Given the description of an element on the screen output the (x, y) to click on. 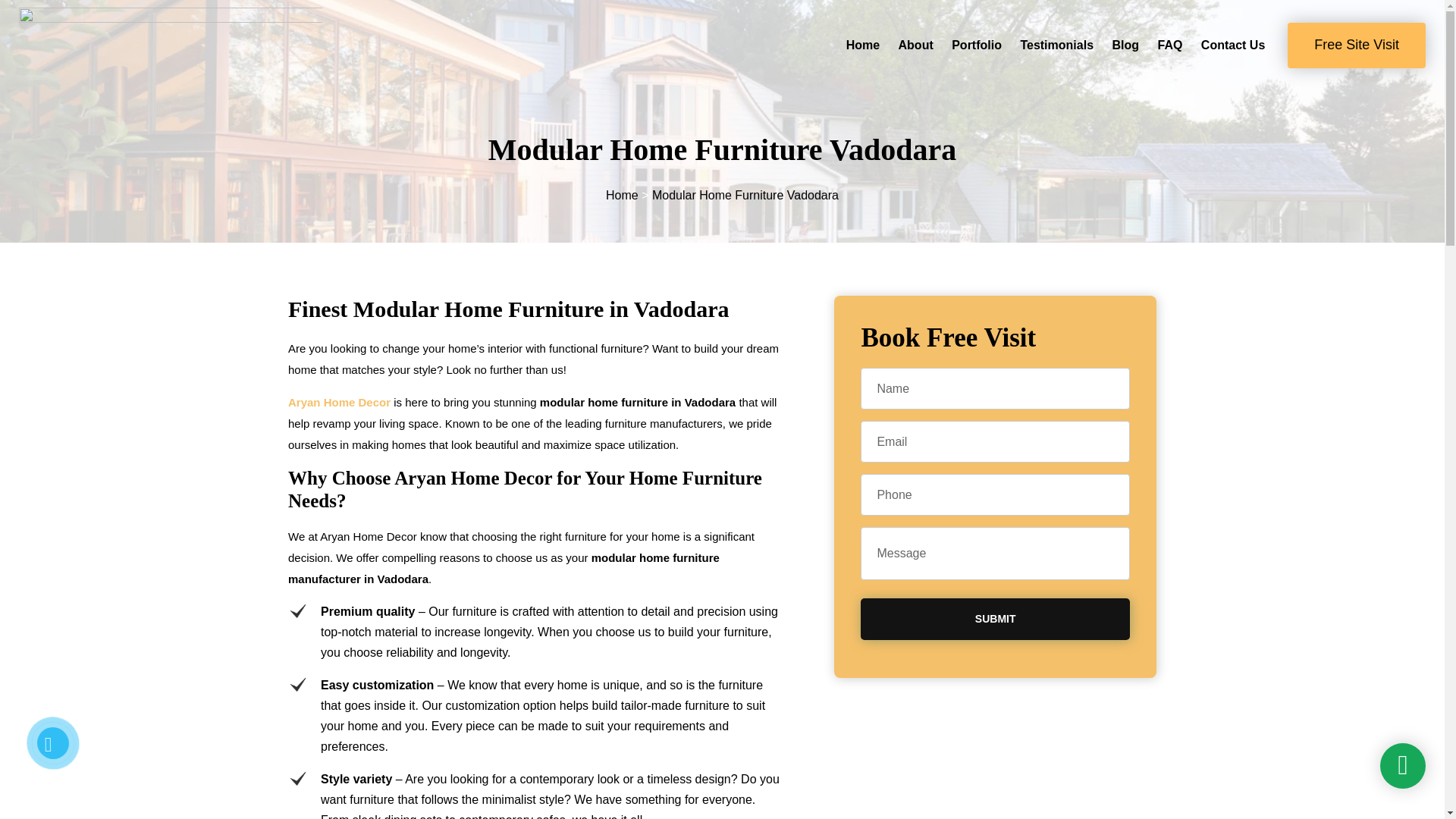
Aryan Home Decor (339, 401)
About (915, 44)
Free Site Visit (1356, 44)
Portfolio (976, 44)
Home (622, 195)
Blog (1125, 44)
Go to Aryan Home Decor. (622, 195)
Home (862, 44)
Contact Us (1233, 44)
Submit (994, 618)
